Given the description of an element on the screen output the (x, y) to click on. 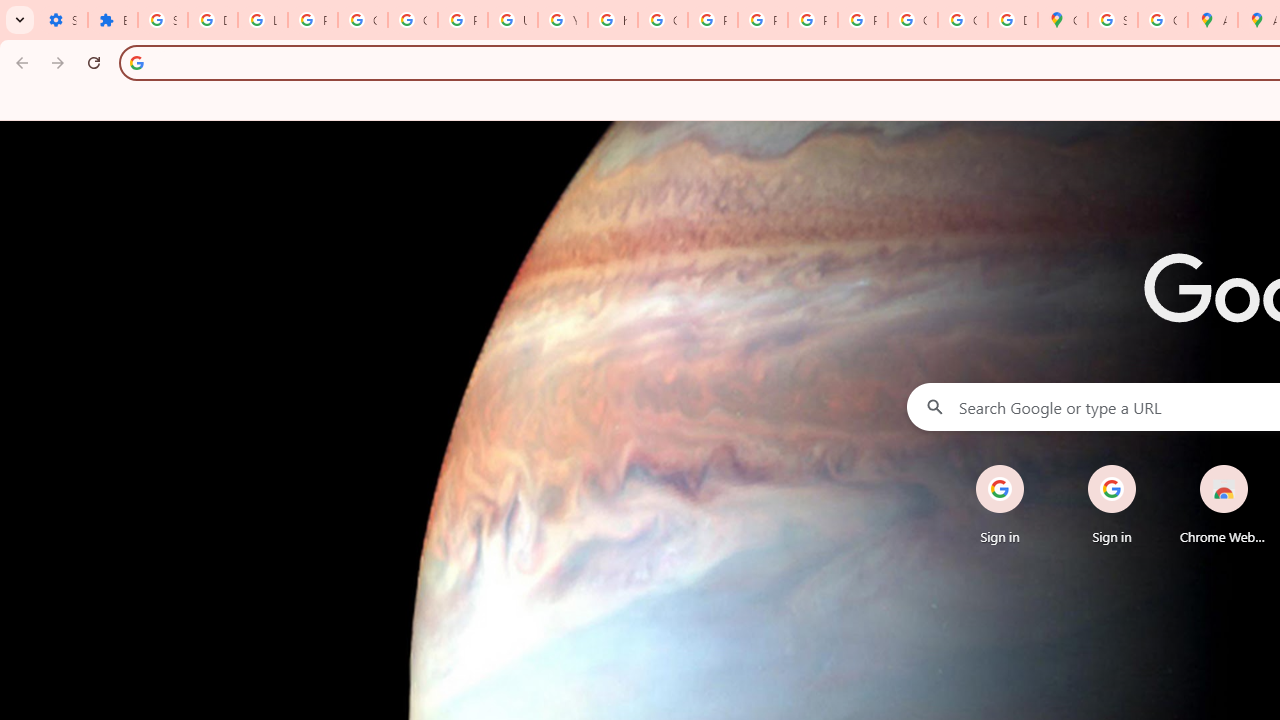
Settings - On startup (62, 20)
YouTube (562, 20)
Learn how to find your photos - Google Photos Help (262, 20)
